Given the description of an element on the screen output the (x, y) to click on. 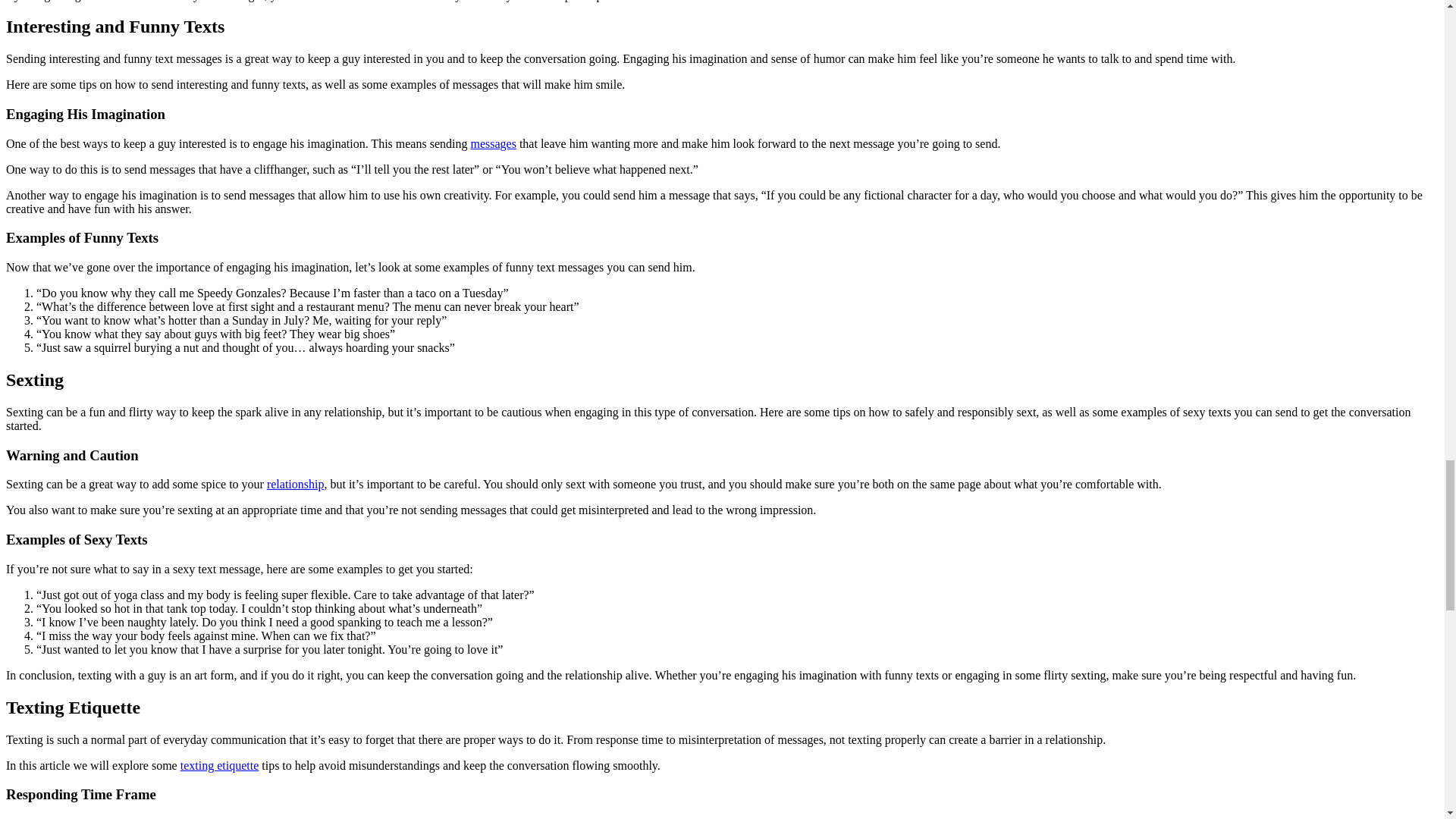
relationship (295, 483)
messages (492, 143)
texting etiquette (219, 765)
